Given the description of an element on the screen output the (x, y) to click on. 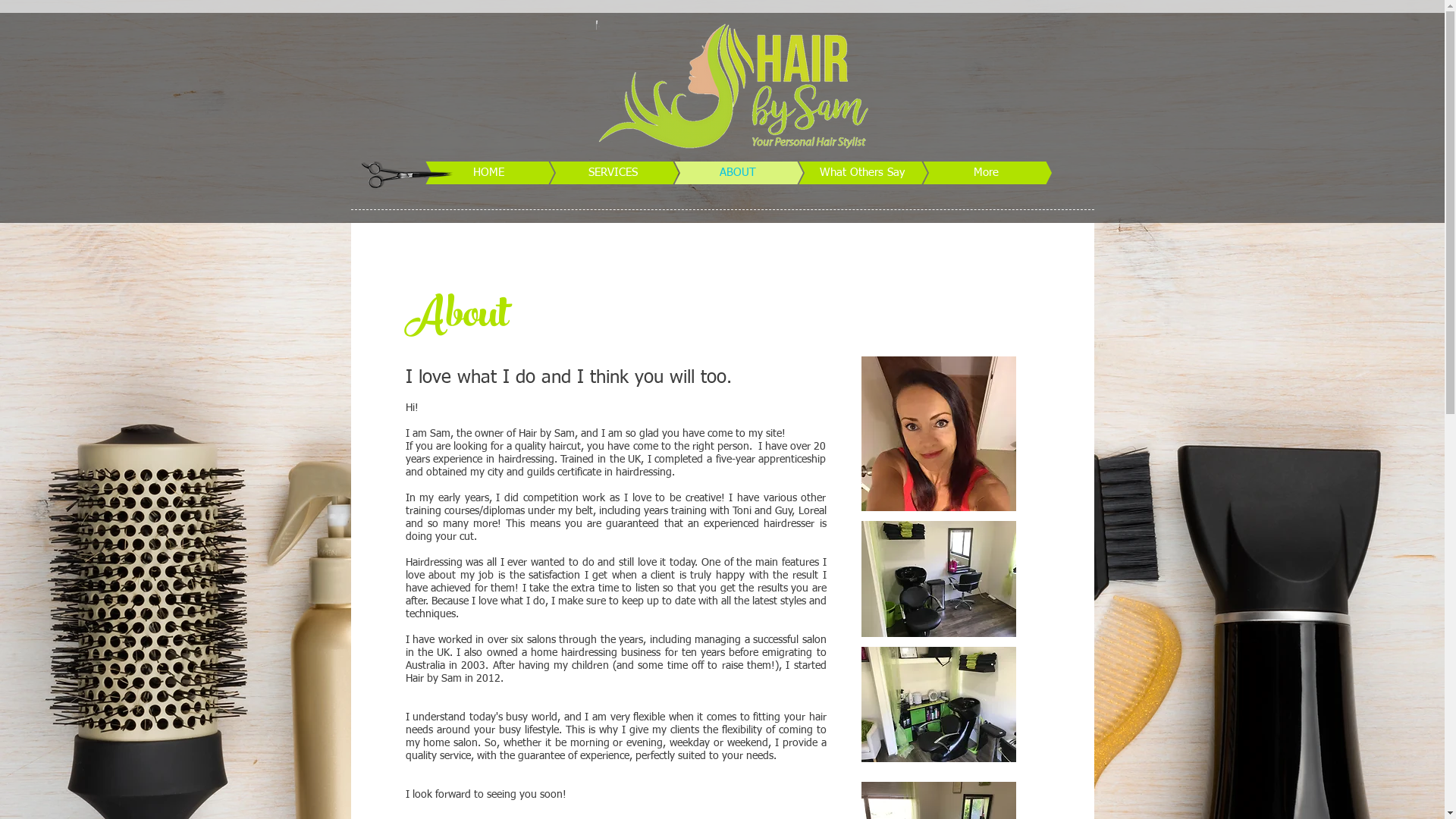
Barber Scissors Element type: hover (405, 172)
What Others Say Element type: text (838, 172)
SERVICES Element type: text (589, 172)
ABOUT Element type: text (714, 172)
HOME Element type: text (465, 172)
